Given the description of an element on the screen output the (x, y) to click on. 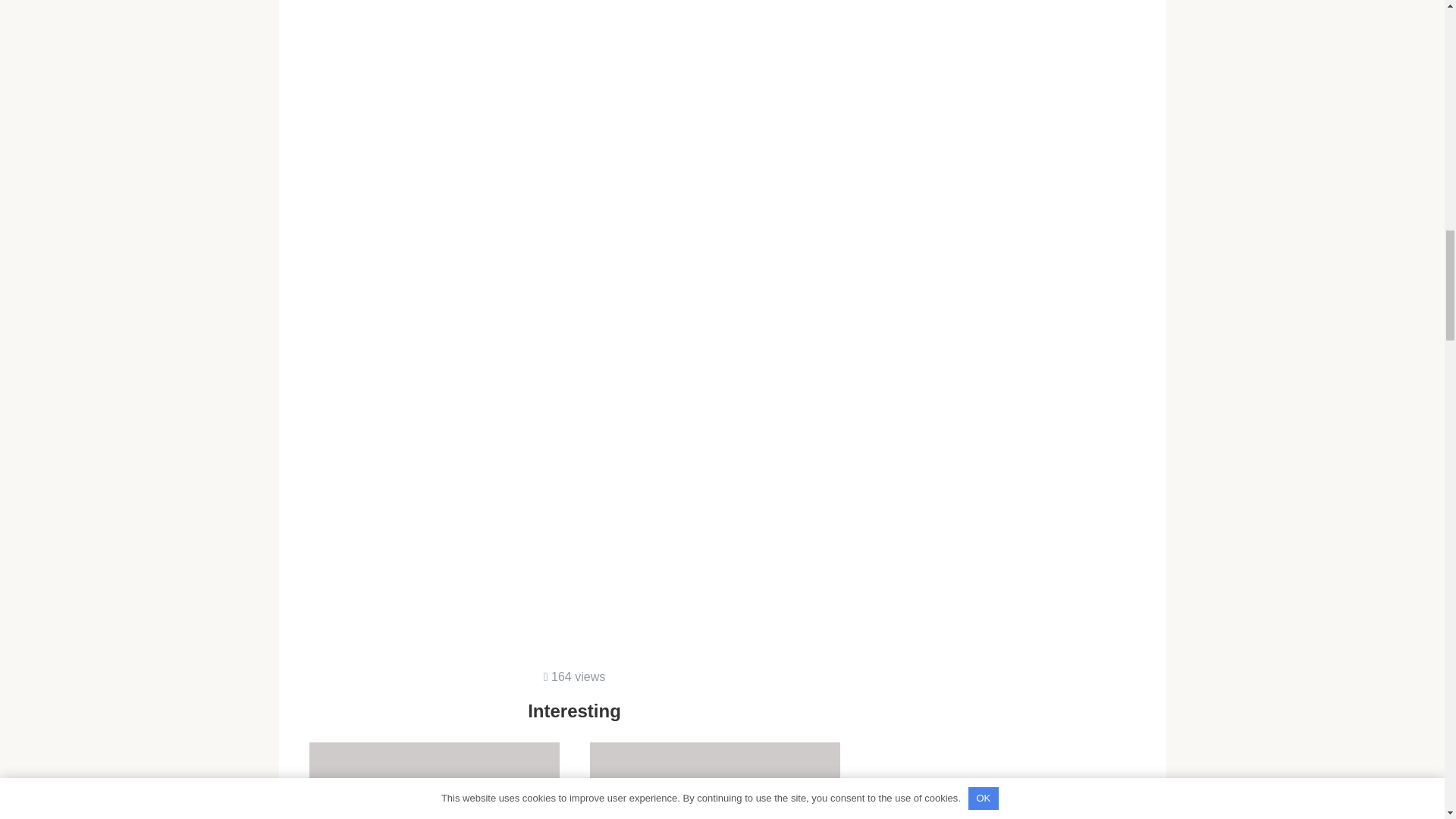
Views (433, 780)
